Given the description of an element on the screen output the (x, y) to click on. 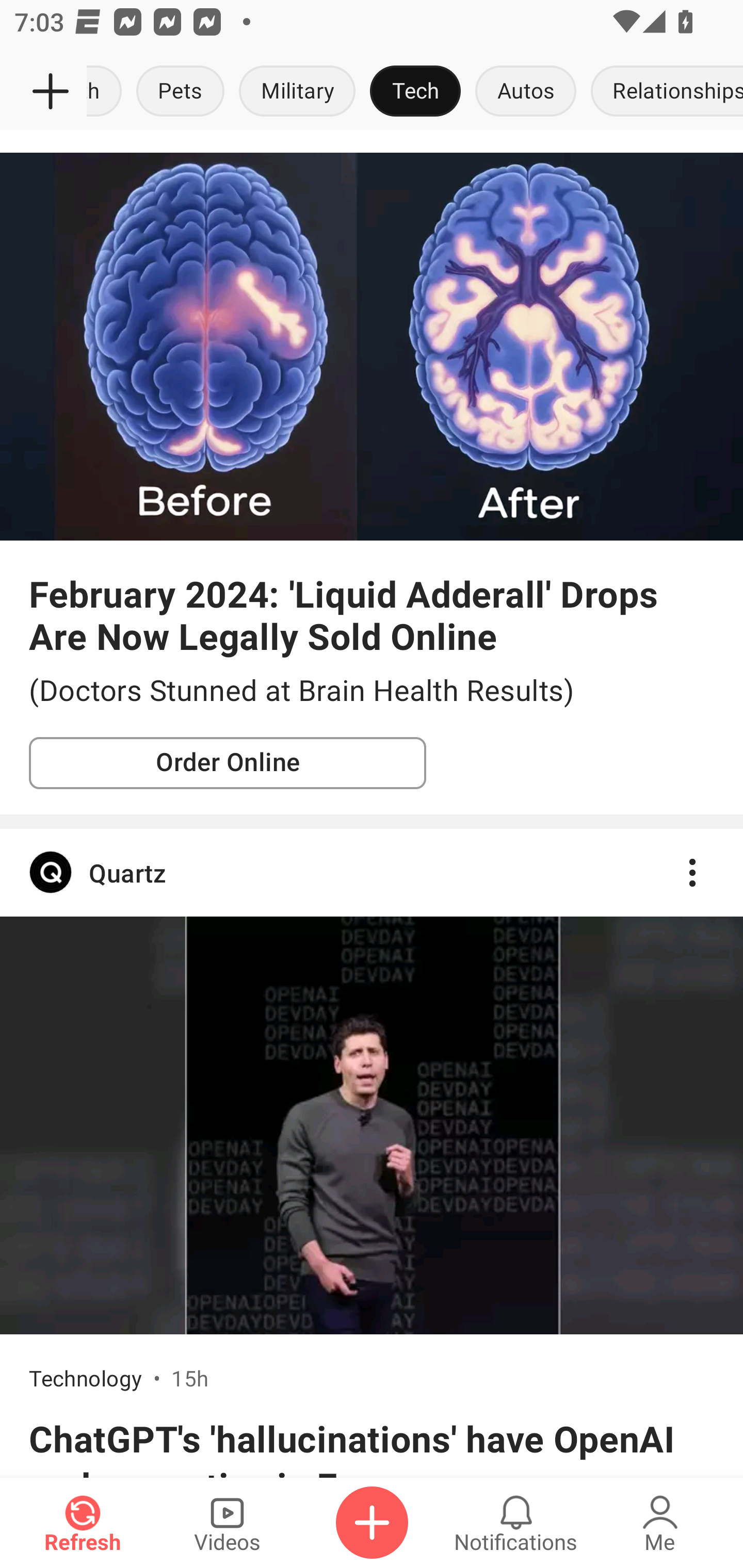
Pets (180, 91)
Military (296, 91)
Tech (415, 91)
Autos (525, 91)
Relationships (663, 91)
(Doctors Stunned at Brain Health Results) (371, 691)
Order Online (227, 762)
Quartz (371, 873)
Videos (227, 1522)
Notifications (516, 1522)
Me (659, 1522)
